Given the description of an element on the screen output the (x, y) to click on. 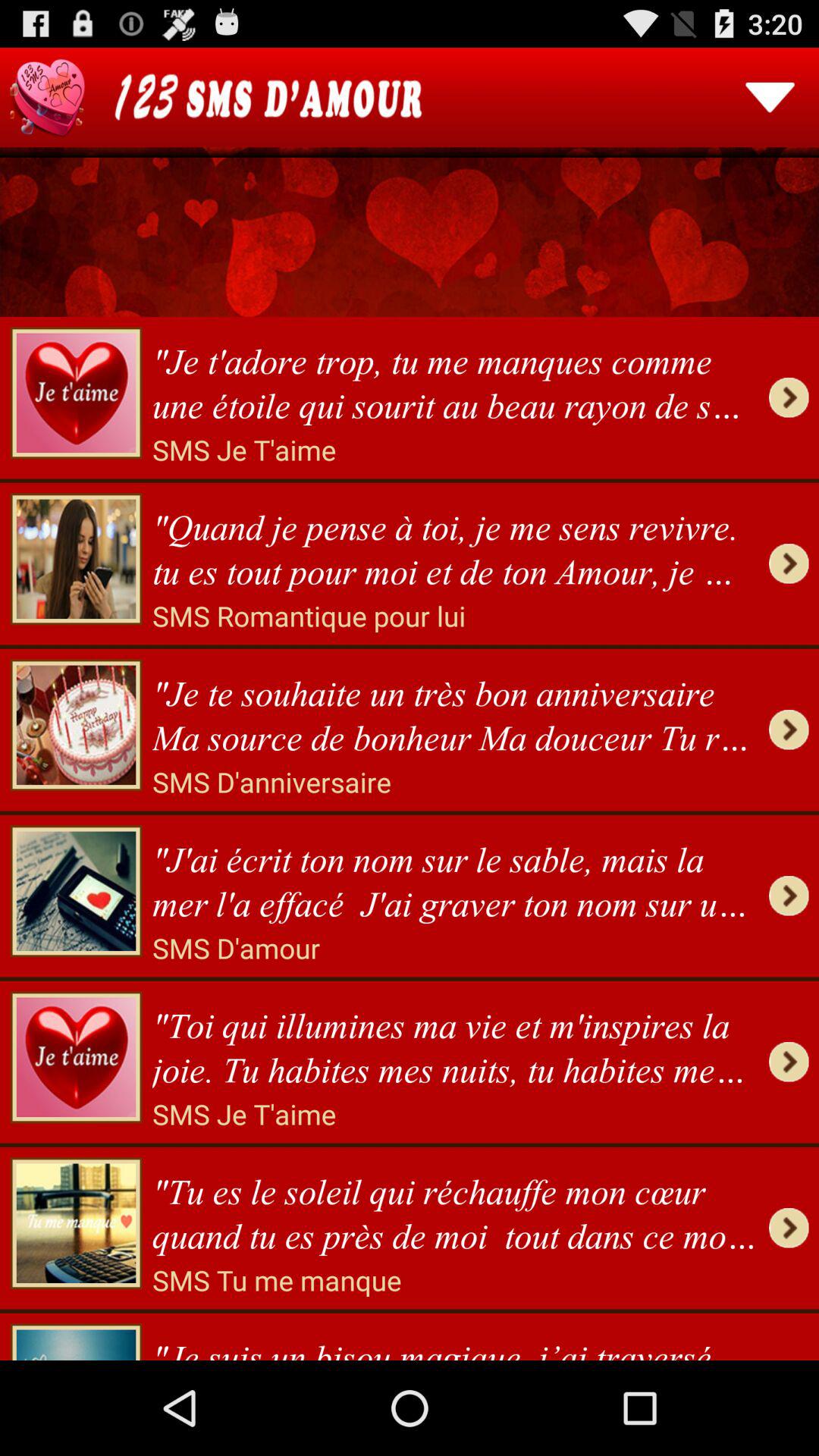
swipe until the sms romantique pour icon (308, 615)
